Given the description of an element on the screen output the (x, y) to click on. 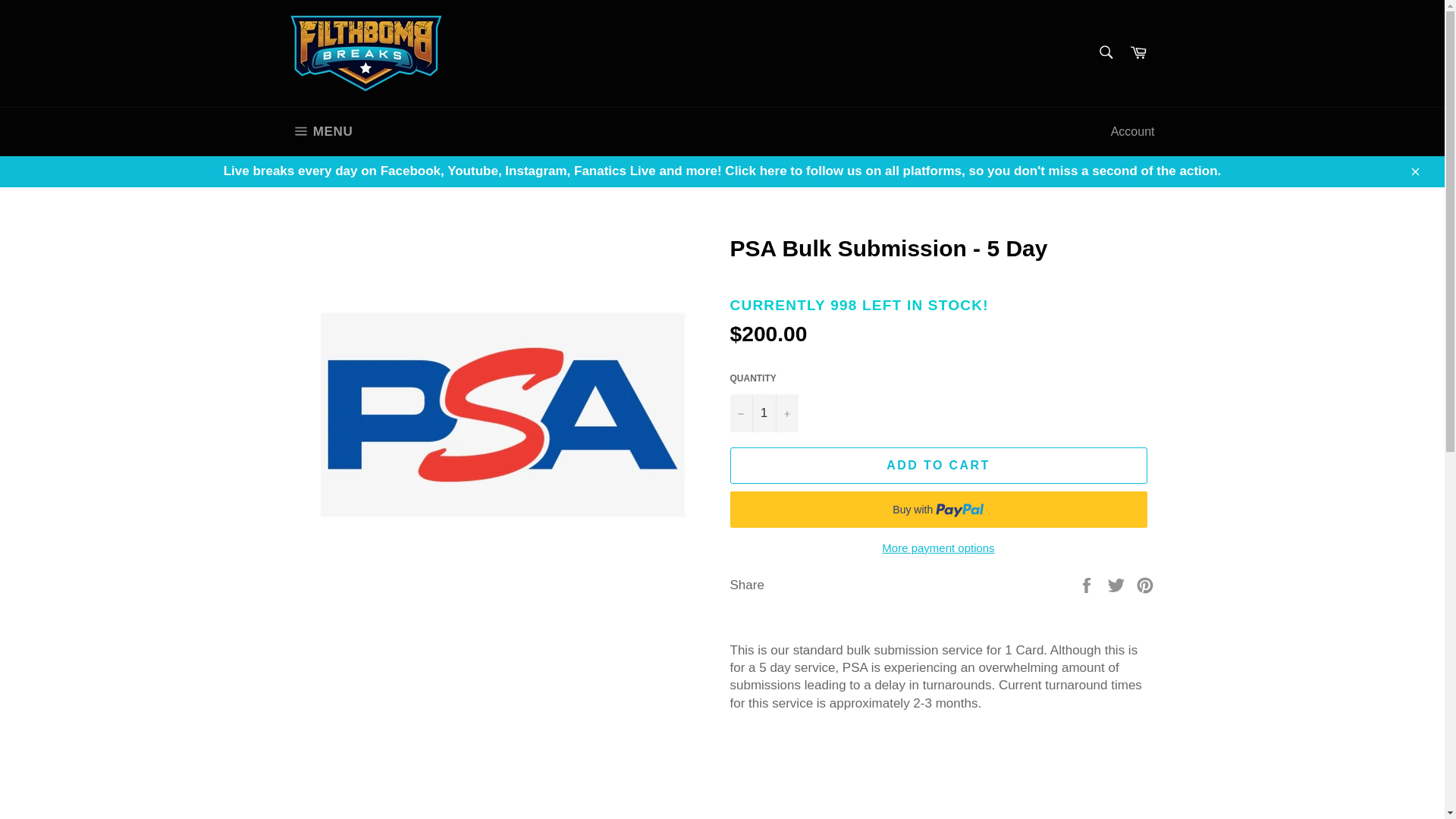
Share on Facebook (1088, 584)
Search (1104, 51)
1 (321, 131)
Tweet on Twitter (763, 412)
Cart (1117, 584)
Pin on Pinterest (1138, 53)
